Given the description of an element on the screen output the (x, y) to click on. 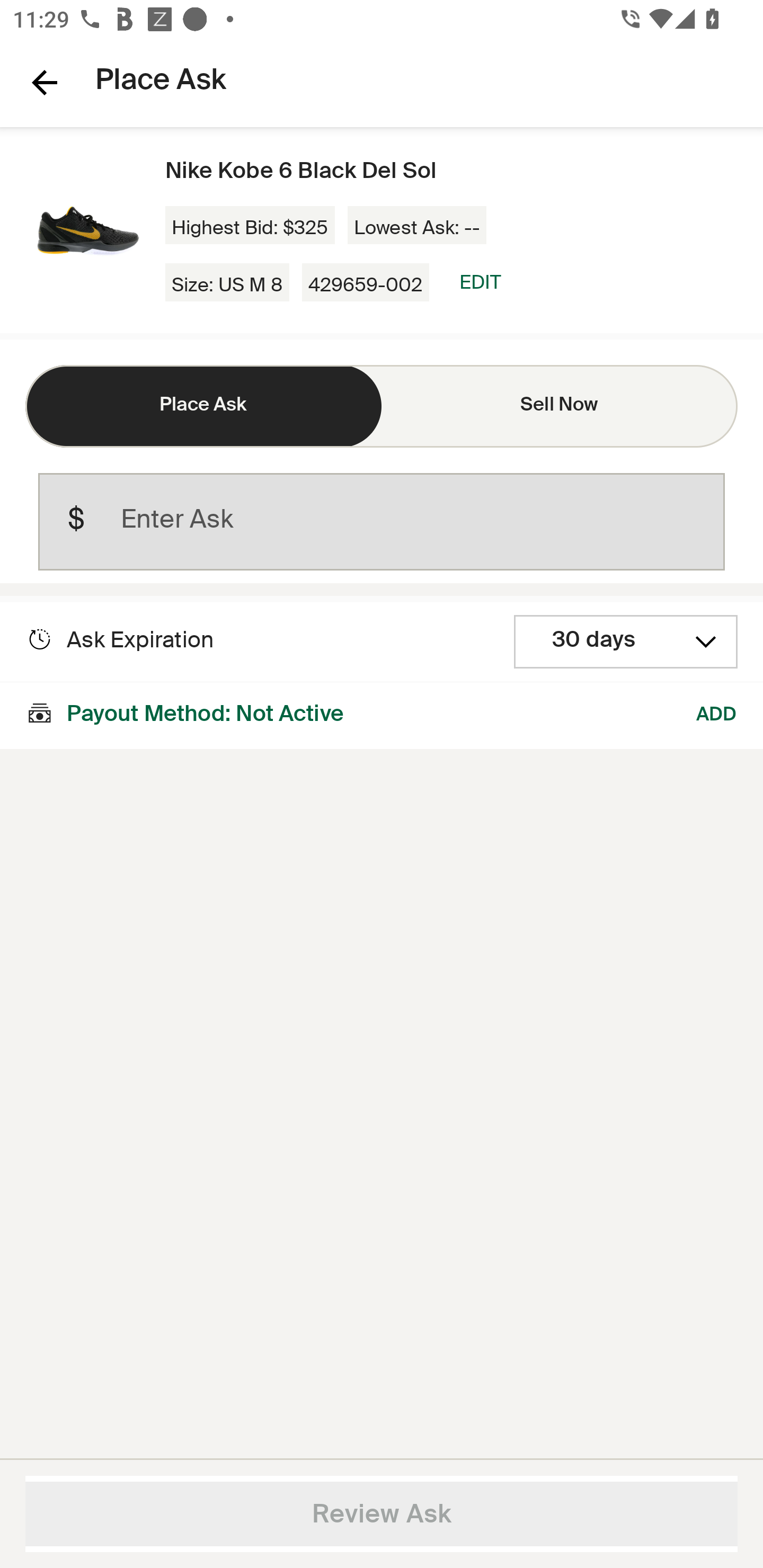
EDIT (479, 281)
Place Ask (203, 405)
Sell Now (559, 405)
$ Enter Ask (381, 521)
Expiration icon Ask Expiration (119, 640)
30 days Expiration dropdown arrow icon (625, 641)
ADD (717, 715)
reviewButtonContentDescriptionID Review Ask (381, 1513)
